Given the description of an element on the screen output the (x, y) to click on. 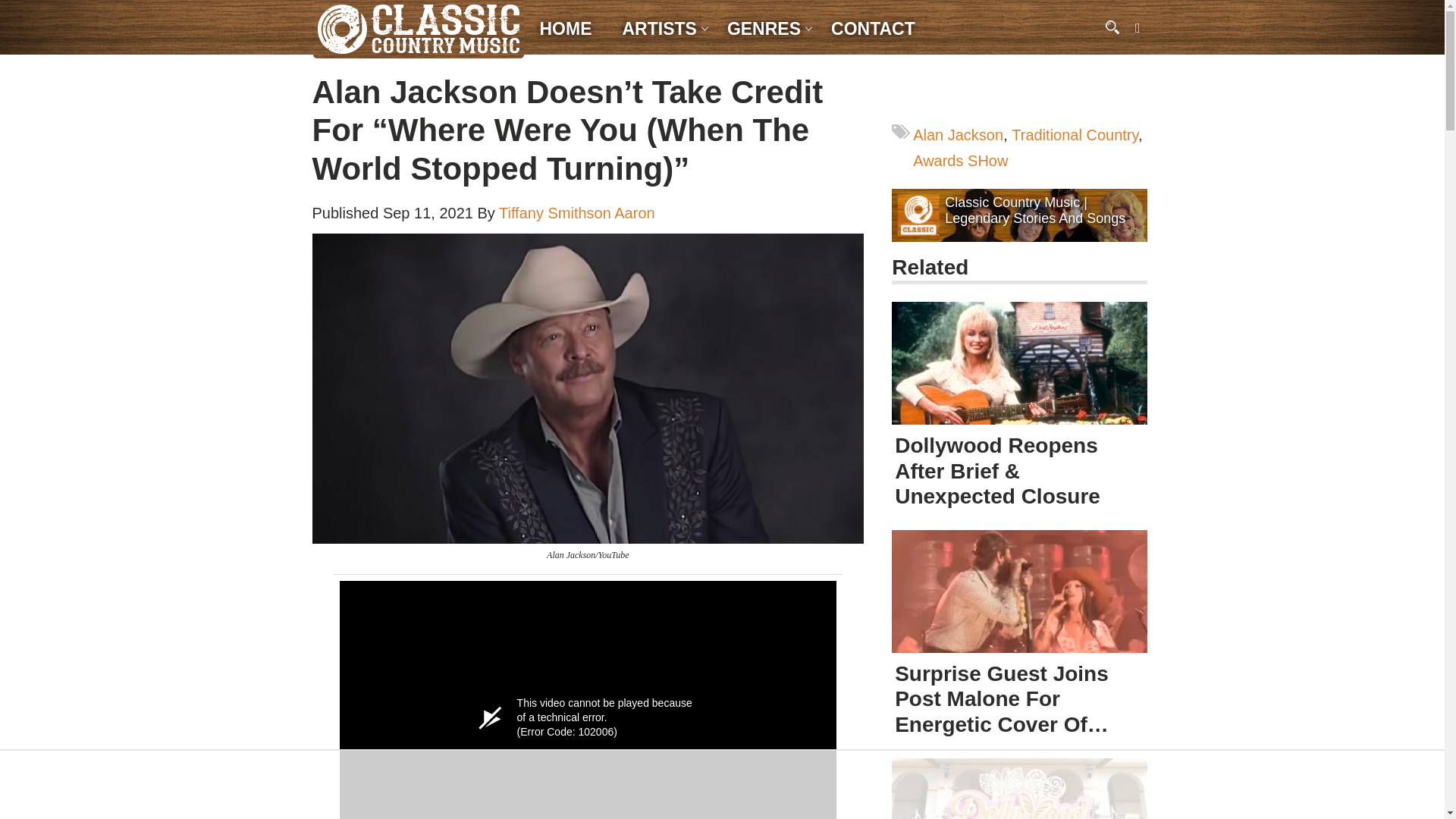
ARTISTS (658, 28)
GENRES (763, 28)
HOME (566, 28)
Search (15, 6)
CONTACT (873, 28)
